Given the description of an element on the screen output the (x, y) to click on. 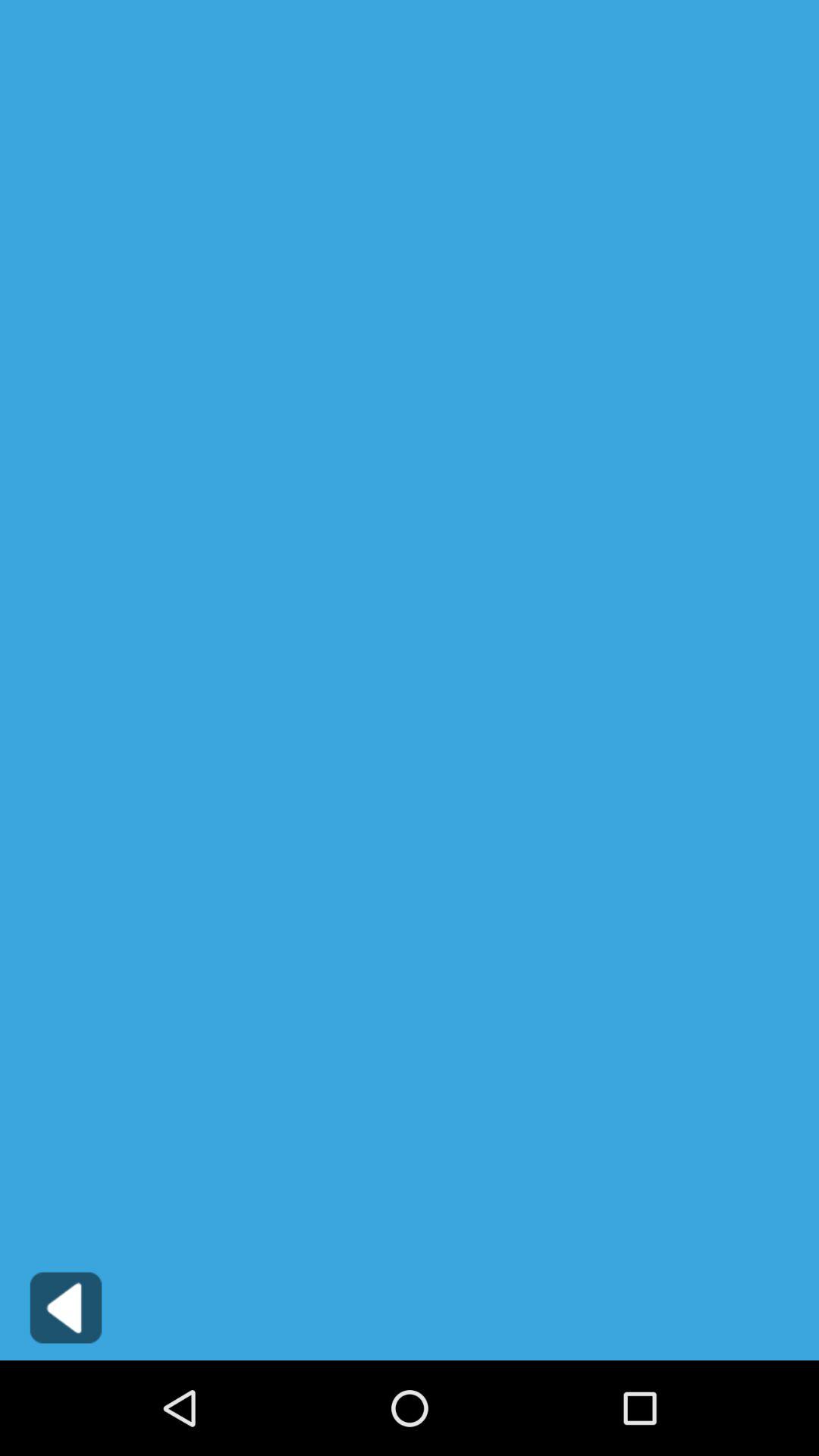
go to back (65, 1307)
